Given the description of an element on the screen output the (x, y) to click on. 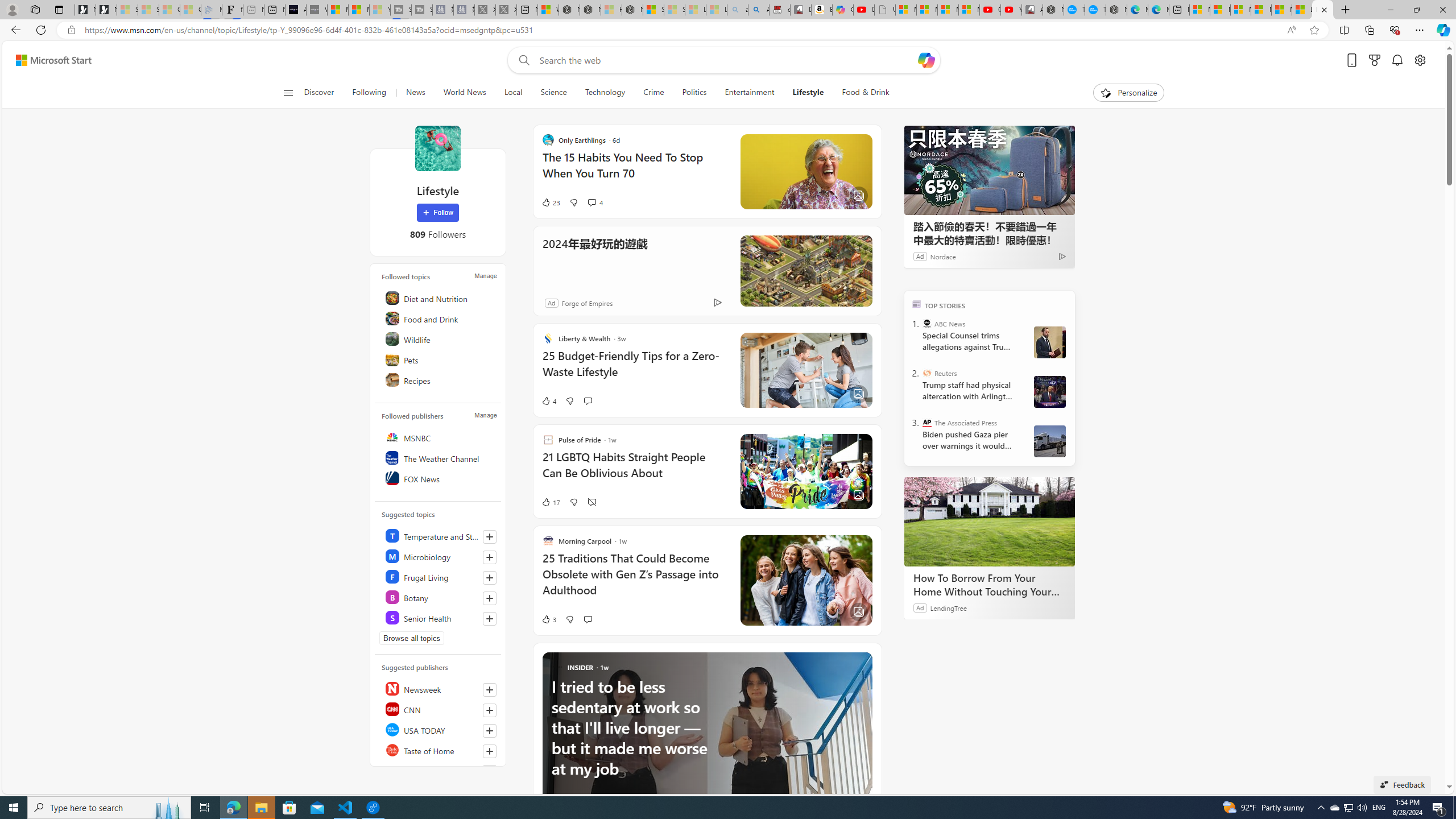
View comments 4 Comment (591, 202)
App bar (728, 29)
How To Borrow From Your Home Without Touching Your Mortgage (988, 584)
NBC News (439, 770)
Following (370, 92)
News (414, 92)
Science (553, 92)
Microsoft account | Privacy (1261, 9)
Follow this topic (489, 618)
CNN (439, 709)
23 Like (549, 202)
